Given the description of an element on the screen output the (x, y) to click on. 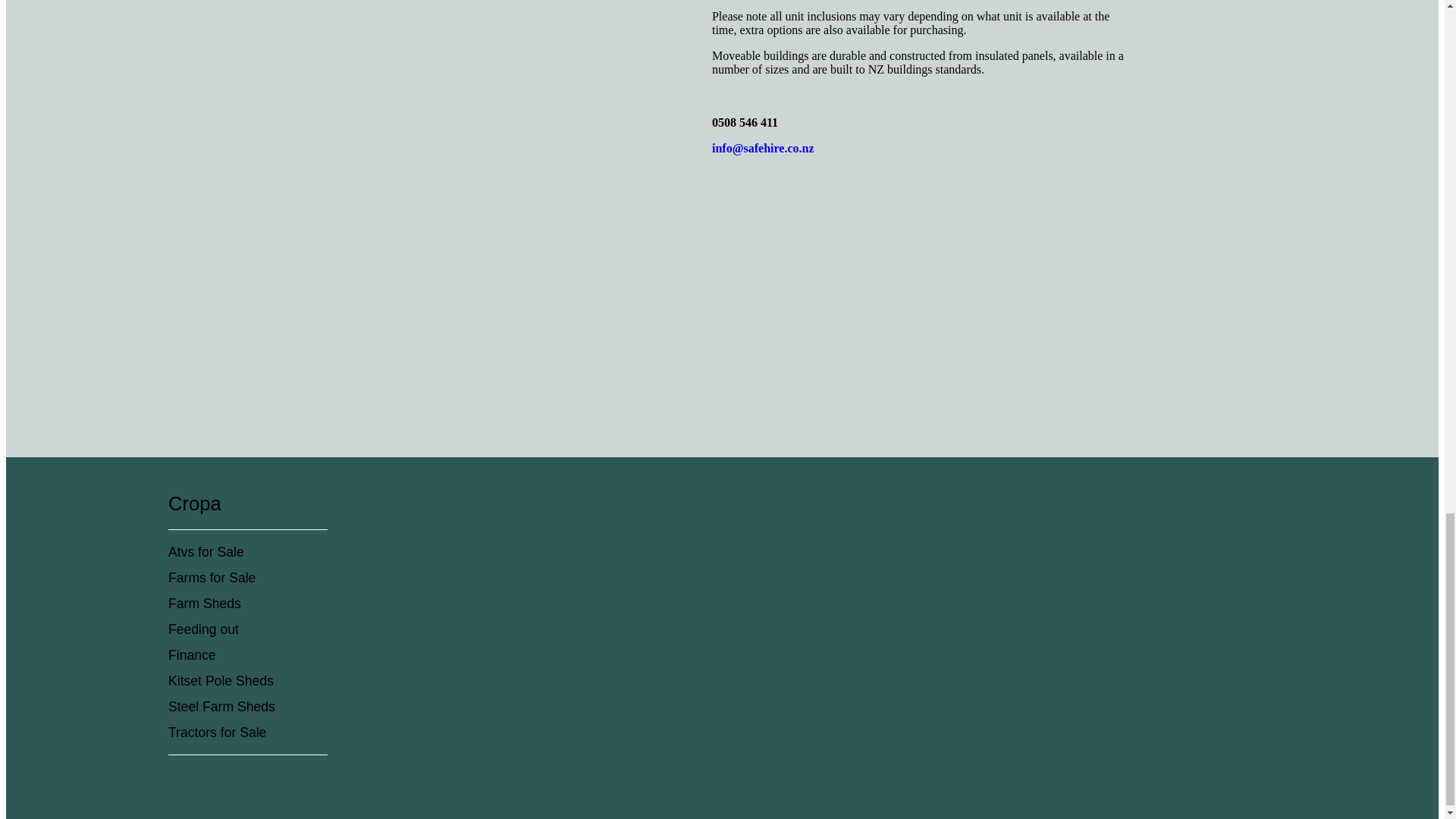
Cropa (194, 503)
Finance (191, 654)
Atvs for Sale (206, 551)
Tractors for Sale (217, 732)
Steel Farm Sheds (221, 706)
Farms for Sale (212, 577)
Feeding out (203, 629)
Farm Sheds (204, 603)
Kitset Pole Sheds (220, 680)
